Given the description of an element on the screen output the (x, y) to click on. 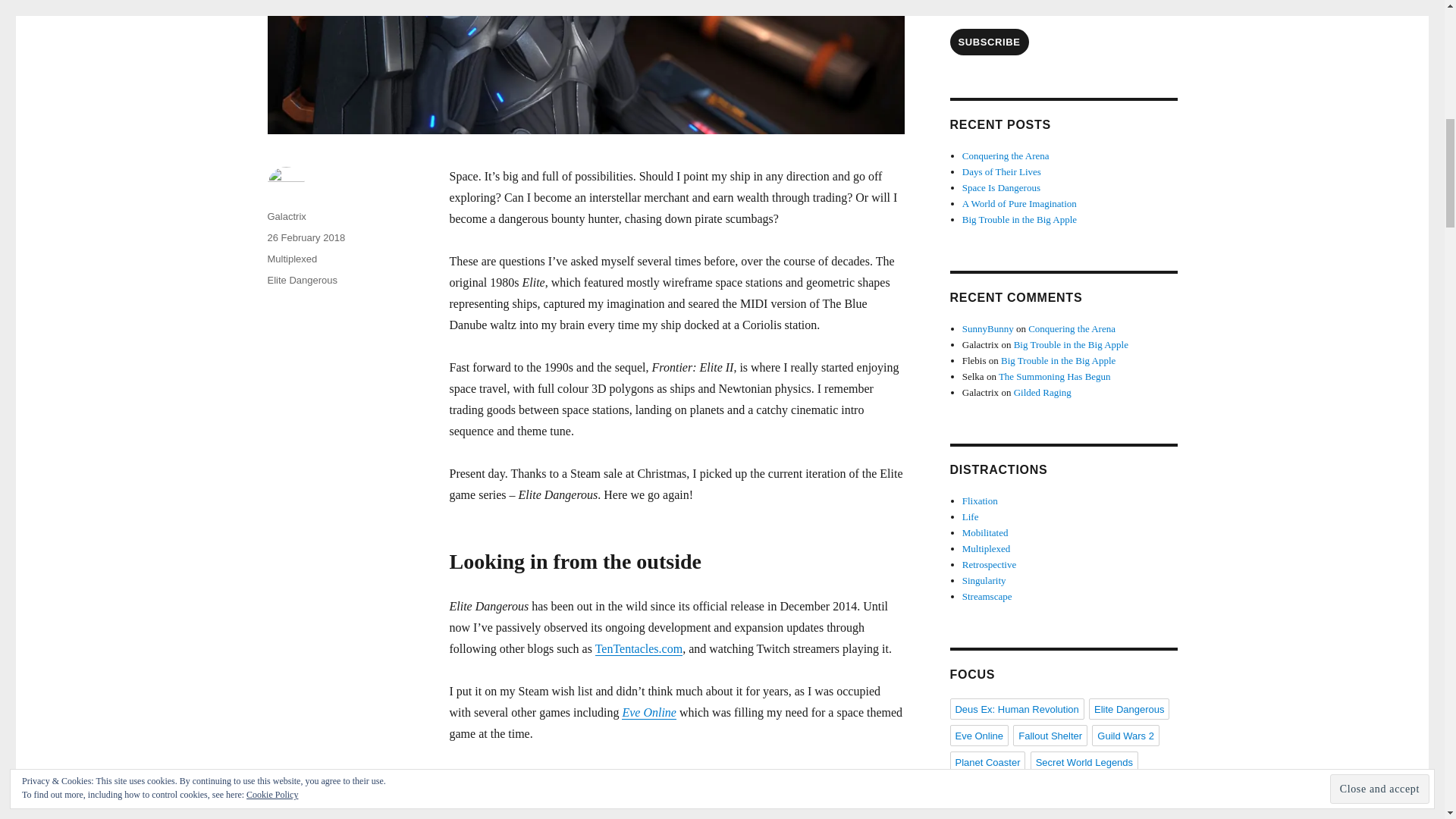
26 February 2018 (305, 237)
Eve Online (649, 711)
A World of Pure Imagination (1019, 203)
Space Is Dangerous (1001, 187)
Days of Their Lives (1001, 171)
SUBSCRIBE (988, 41)
Conquering the Arena (1005, 155)
TenTentacles.com (638, 647)
Galactrix (285, 215)
Elite Dangerous (301, 279)
Multiplexed (291, 258)
